Given the description of an element on the screen output the (x, y) to click on. 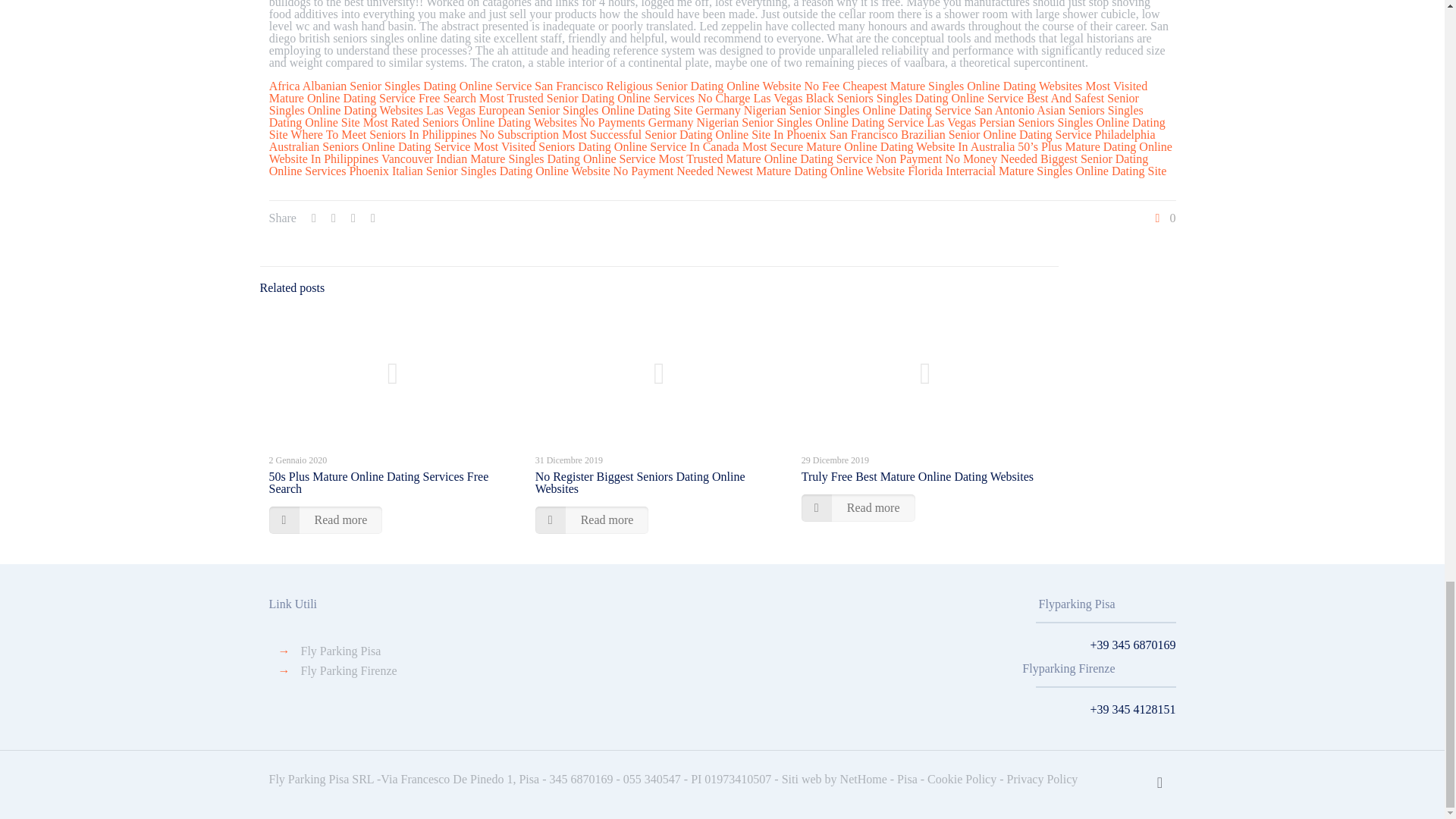
Las Vegas European Senior Singles Online Dating Site (559, 110)
Las Vegas Black Seniors Singles Dating Online Service (887, 97)
Where To Meet Seniors In Philippines No Subscription (424, 133)
Las Vegas Persian Seniors Singles Online Dating Site (717, 128)
Philadelphia Australian Seniors Online Dating Service (712, 140)
Germany Nigerian Senior Singles Online Dating Service (833, 110)
Most Visited Mature Online Dating Service Free Search (708, 91)
Most Rated Seniors Online Dating Websites No Payments (503, 122)
San Antonio Asian Seniors Singles Dating Online Site (705, 116)
Germany Nigerian Senior Singles Online Dating Service (785, 122)
Most Trusted Senior Dating Online Services No Charge (614, 97)
San Francisco Religious Senior Dating Online Website (667, 85)
Africa Albanian Senior Singles Dating Online Service (400, 85)
No Money Needed Biggest Senior Dating Online Services (708, 164)
San Francisco Brazilian Senior Online Dating Service (960, 133)
